Given the description of an element on the screen output the (x, y) to click on. 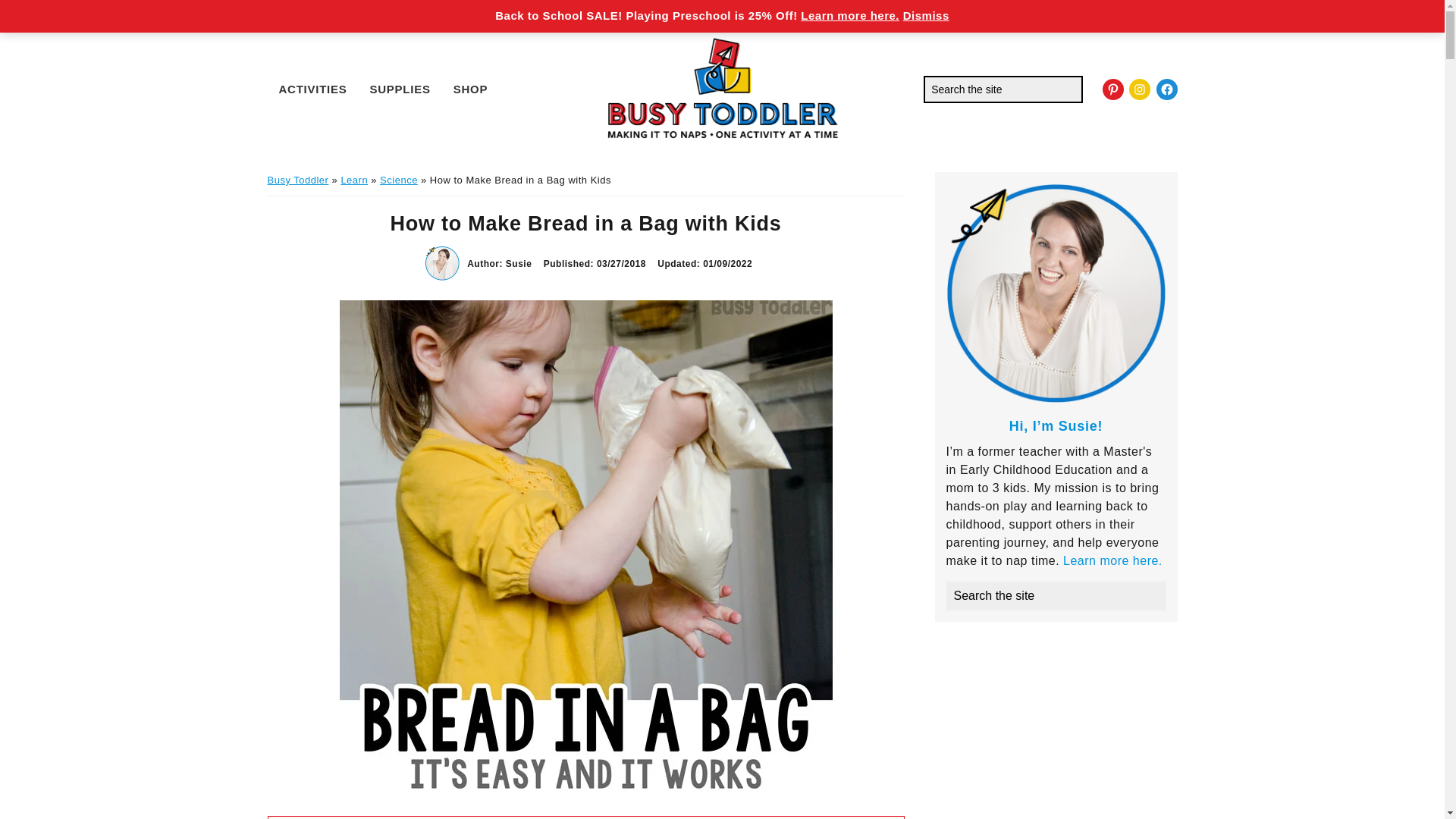
Instagram (1139, 88)
SUPPLIES (400, 88)
Busy Toddler (297, 179)
Facebook (1166, 88)
Pinterest (1113, 88)
Science (398, 179)
SHOP (470, 88)
Learn (354, 179)
